Given the description of an element on the screen output the (x, y) to click on. 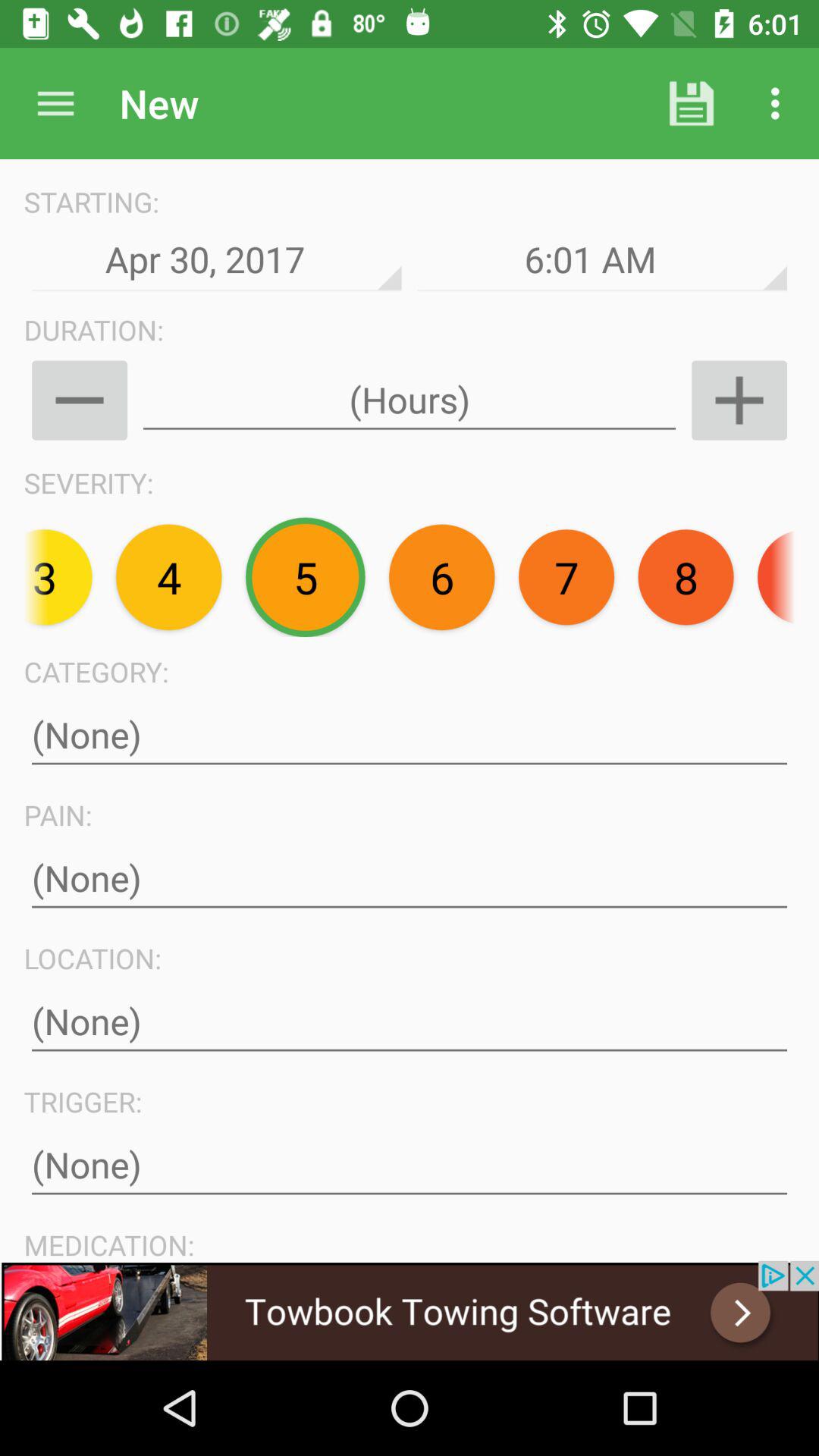
name (409, 735)
